Given the description of an element on the screen output the (x, y) to click on. 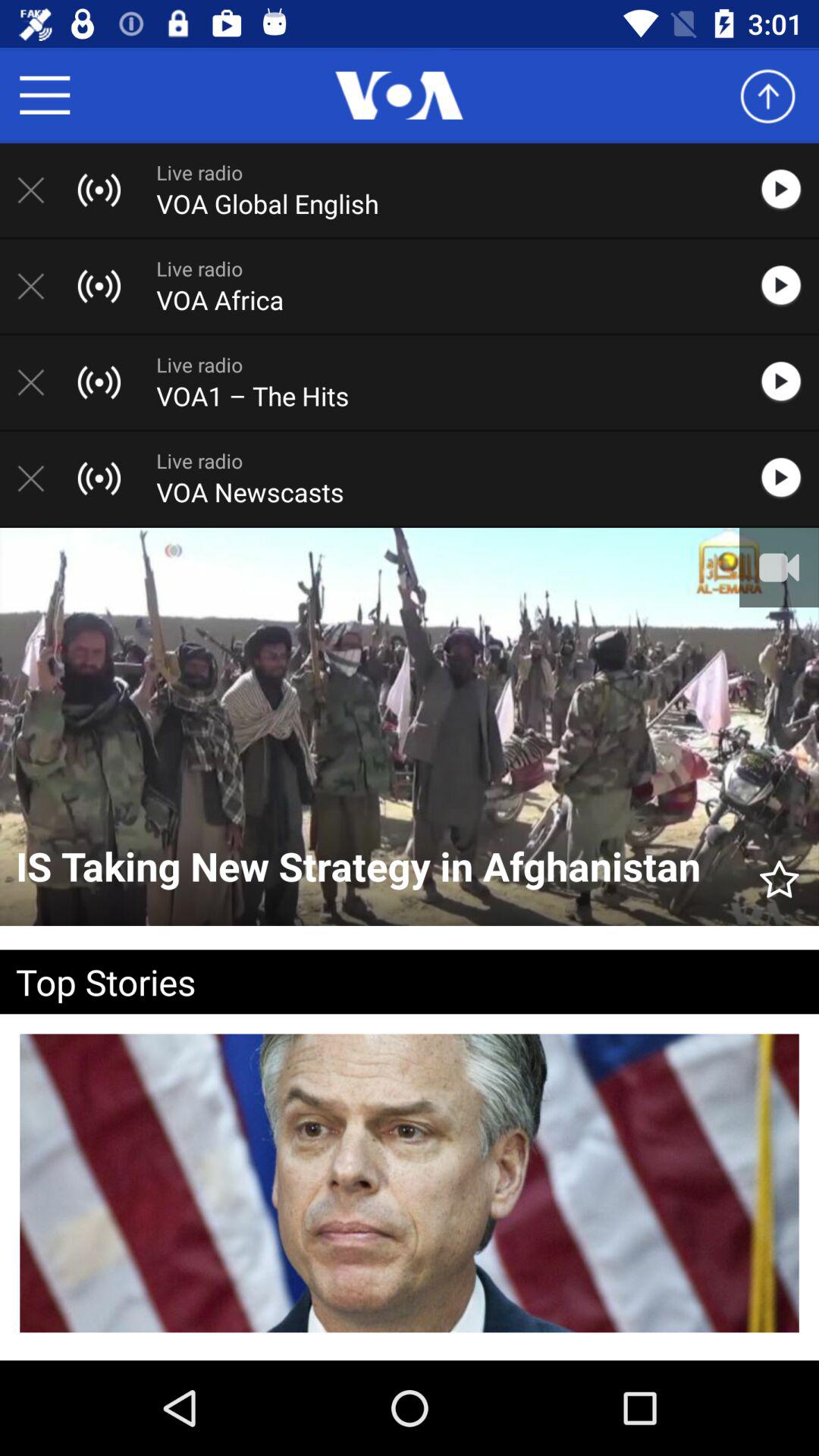
opens menu (44, 95)
